Given the description of an element on the screen output the (x, y) to click on. 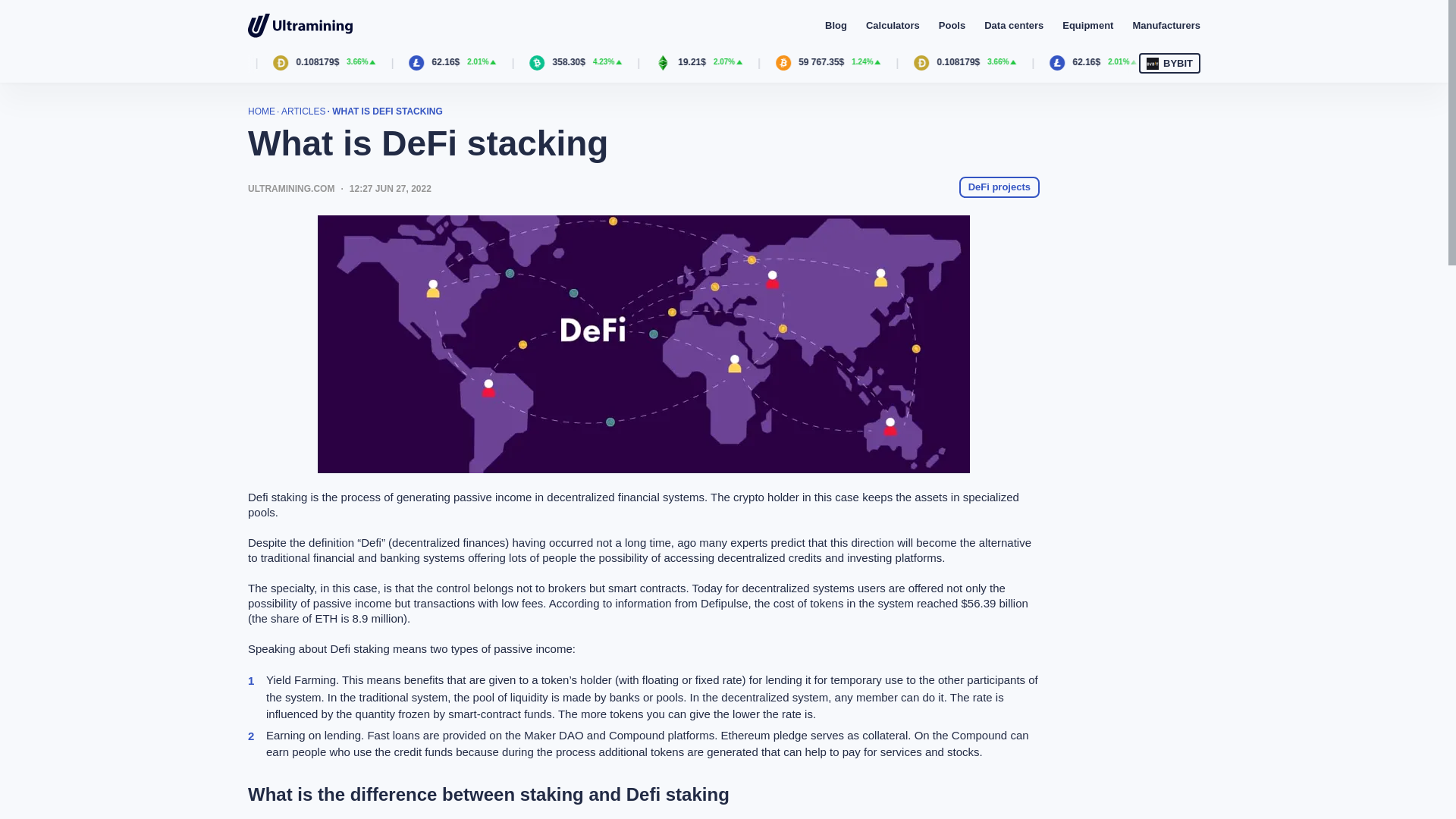
Data centers (1013, 25)
Calculators (893, 25)
HOME (261, 111)
BYBIT (1168, 63)
Manufacturers (1165, 25)
ARTICLES (302, 111)
Equipment (1087, 25)
WHAT IS DEFI STACKING (386, 111)
Pools (952, 25)
DeFi projects (999, 187)
